Given the description of an element on the screen output the (x, y) to click on. 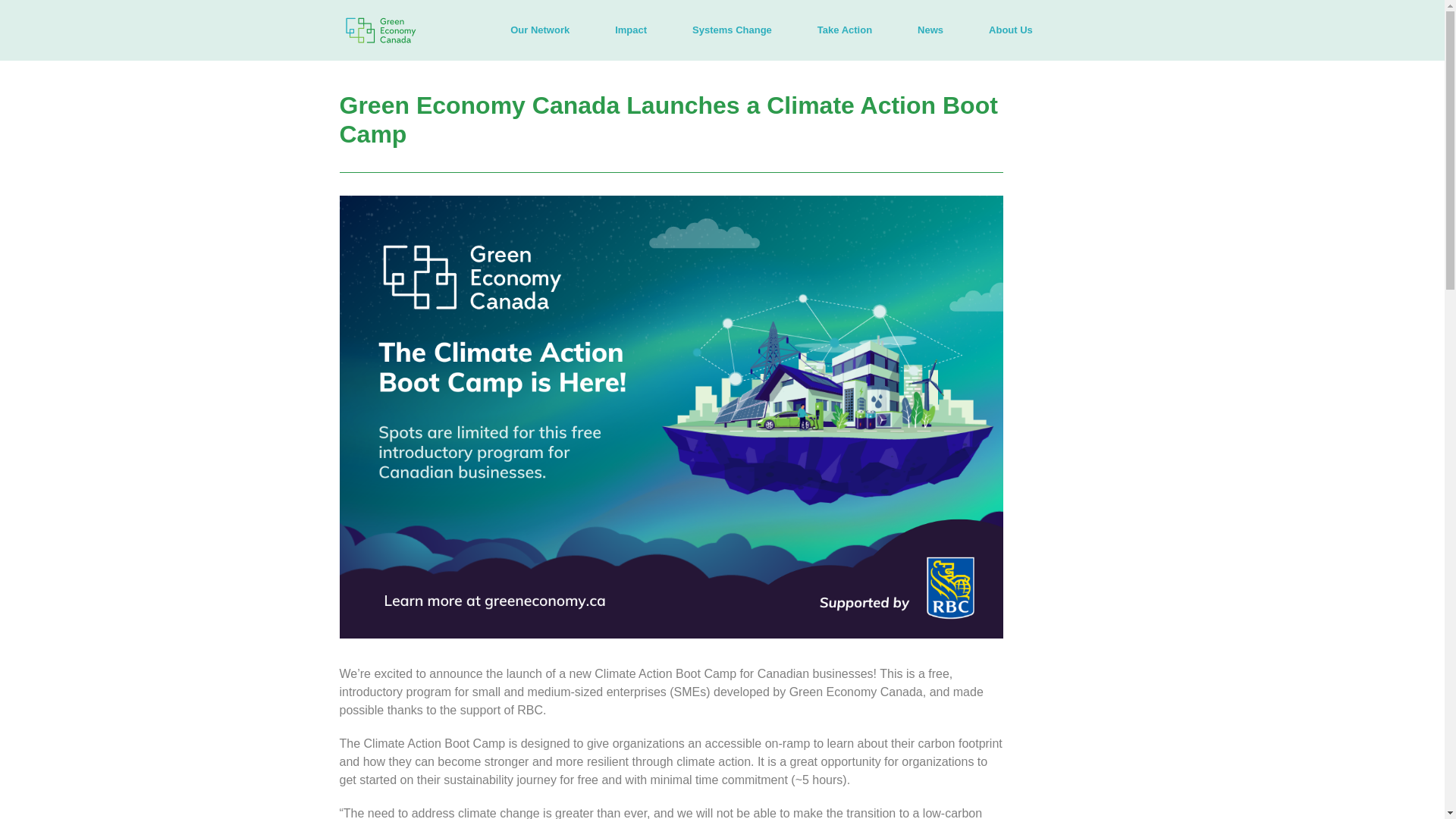
Systems Change (732, 30)
Take Action (844, 30)
Our Network (540, 30)
Impact (630, 30)
News (930, 30)
About Us (1011, 30)
